Given the description of an element on the screen output the (x, y) to click on. 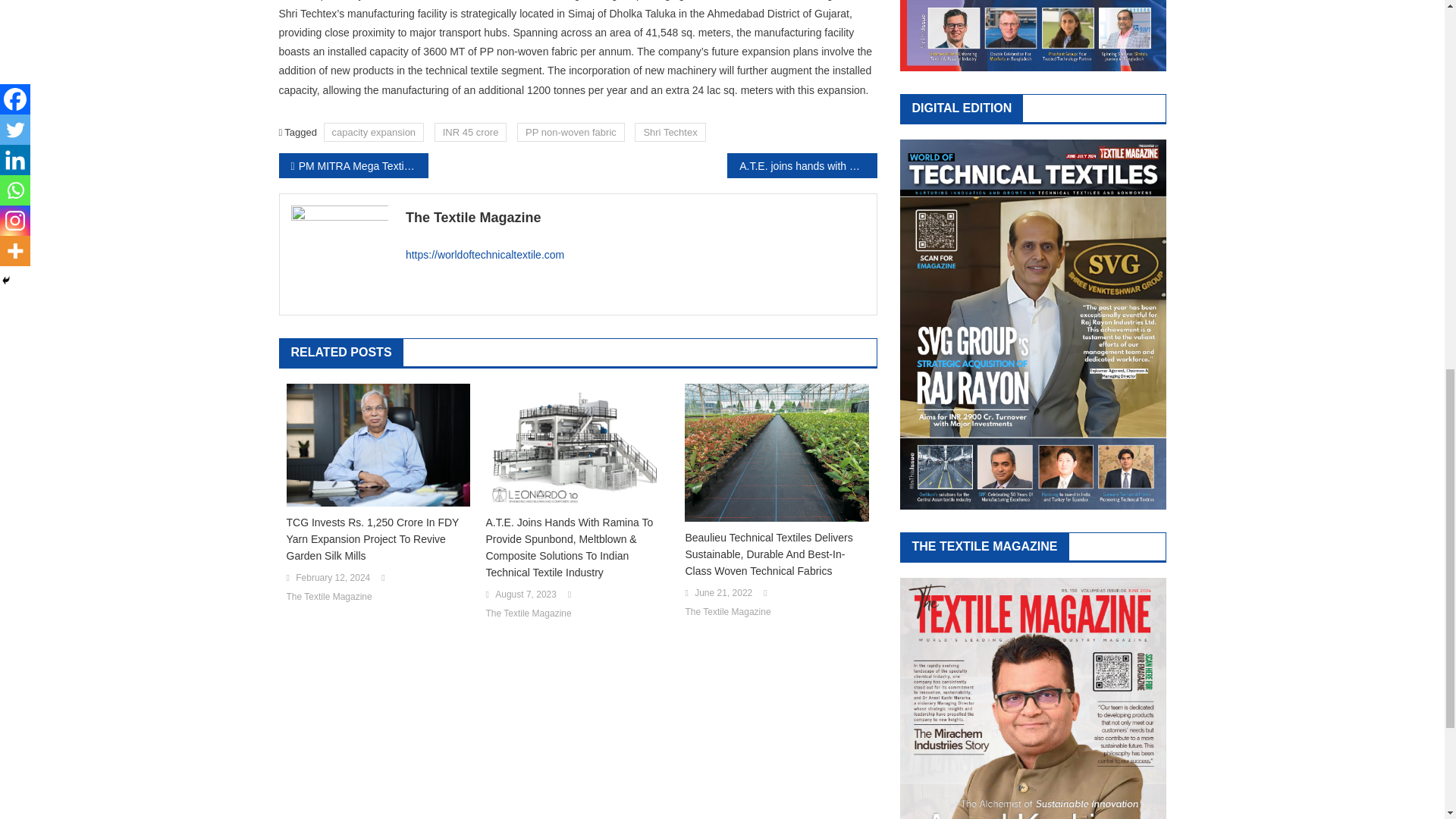
Shri Techtex (669, 131)
PP non-woven fabric (570, 131)
INR 45 crore (469, 131)
capacity expansion (374, 131)
